Given the description of an element on the screen output the (x, y) to click on. 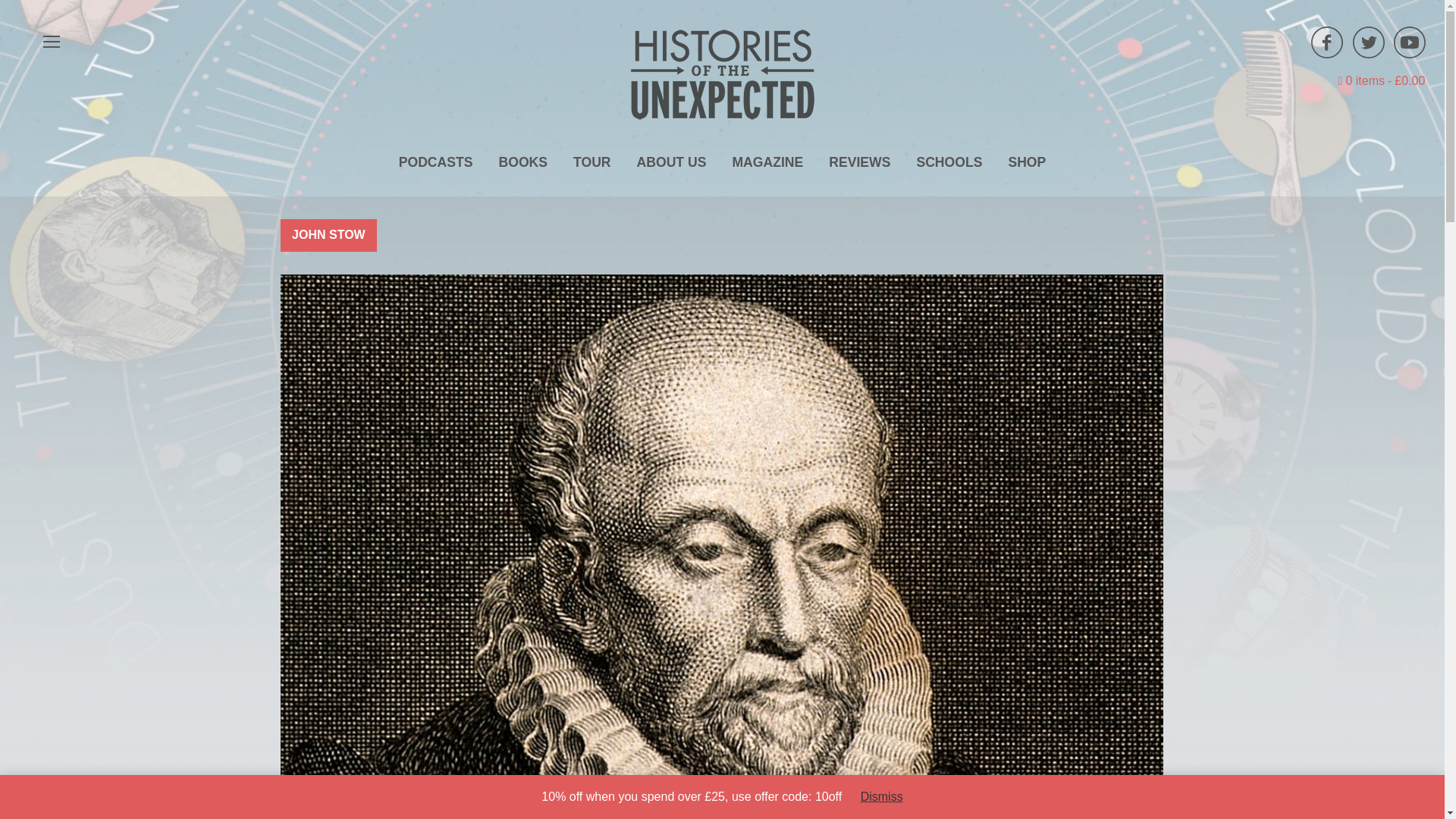
REVIEWS (858, 162)
SCHOOLS (948, 162)
TOUR (592, 162)
ABOUT US (671, 162)
PODCASTS (435, 162)
BOOKS (522, 162)
SHOP (1026, 162)
Start shopping (1381, 80)
MAGAZINE (766, 162)
